Given the description of an element on the screen output the (x, y) to click on. 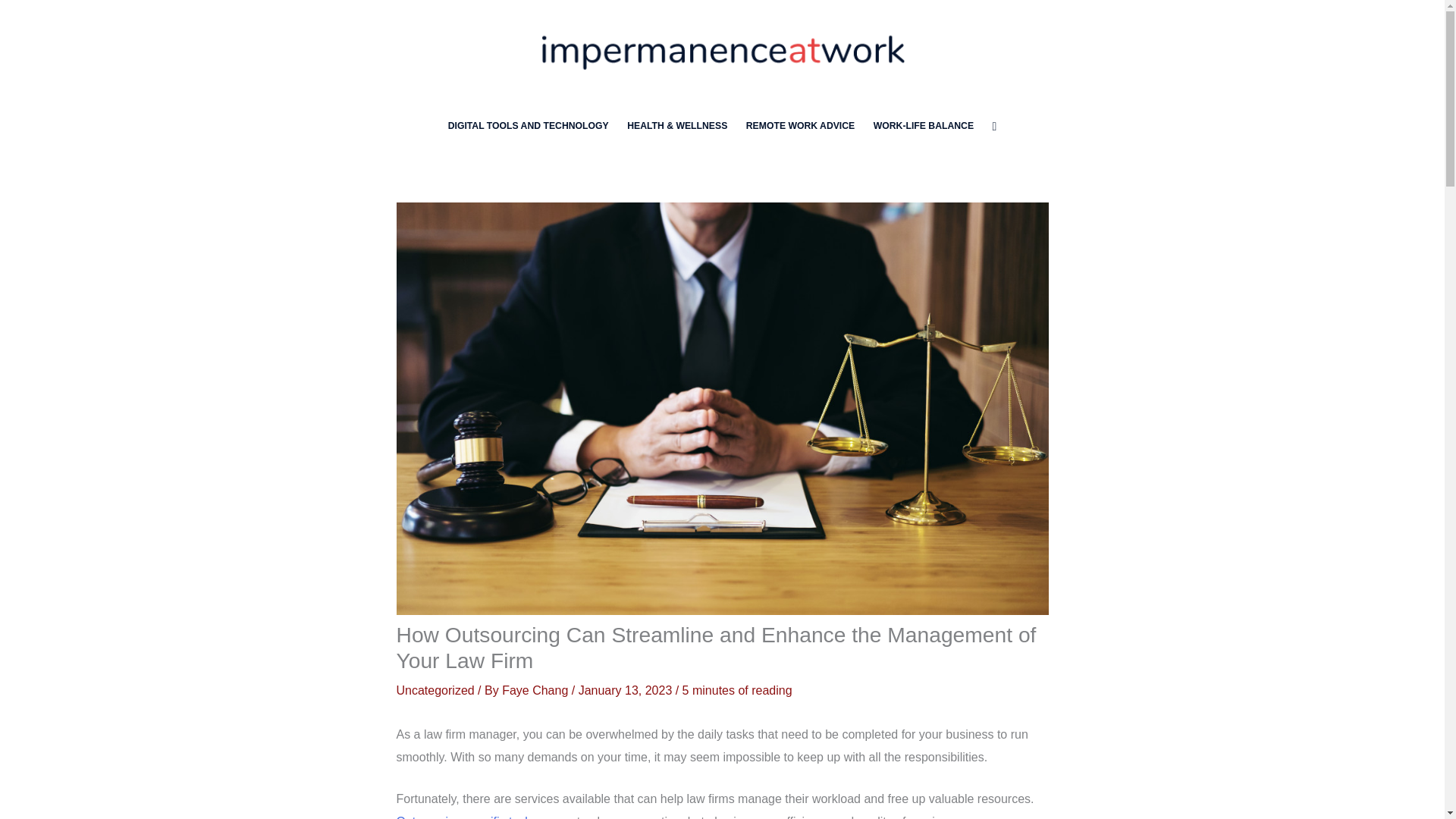
Uncategorized (435, 689)
WORK-LIFE BALANCE (922, 125)
Outsourcing specific tasks (466, 816)
DIGITAL TOOLS AND TECHNOLOGY (527, 125)
REMOTE WORK ADVICE (800, 125)
View all posts by Faye Chang (537, 689)
Faye Chang (537, 689)
